Given the description of an element on the screen output the (x, y) to click on. 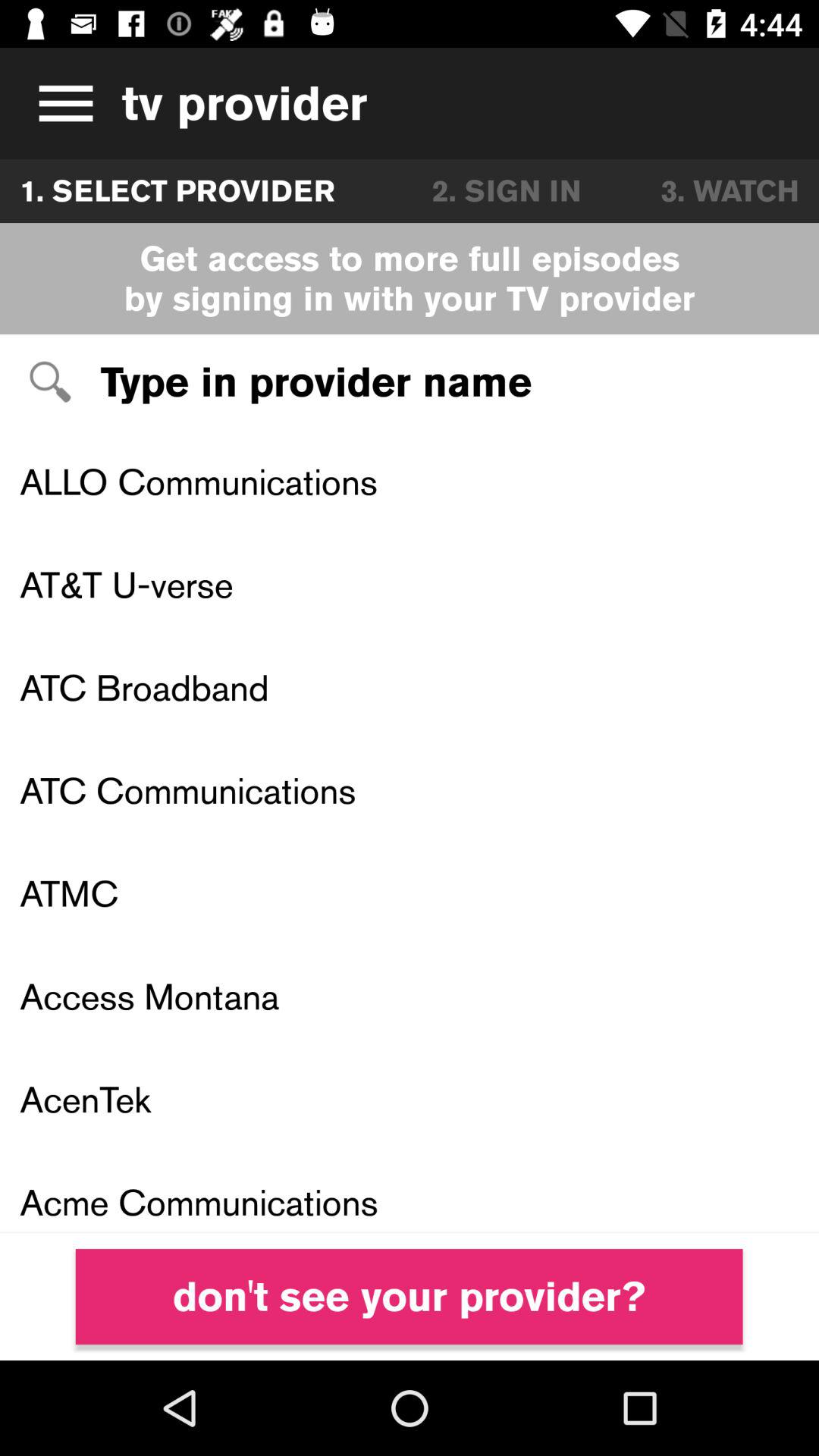
choose icon to the left of tv provider (60, 103)
